Given the description of an element on the screen output the (x, y) to click on. 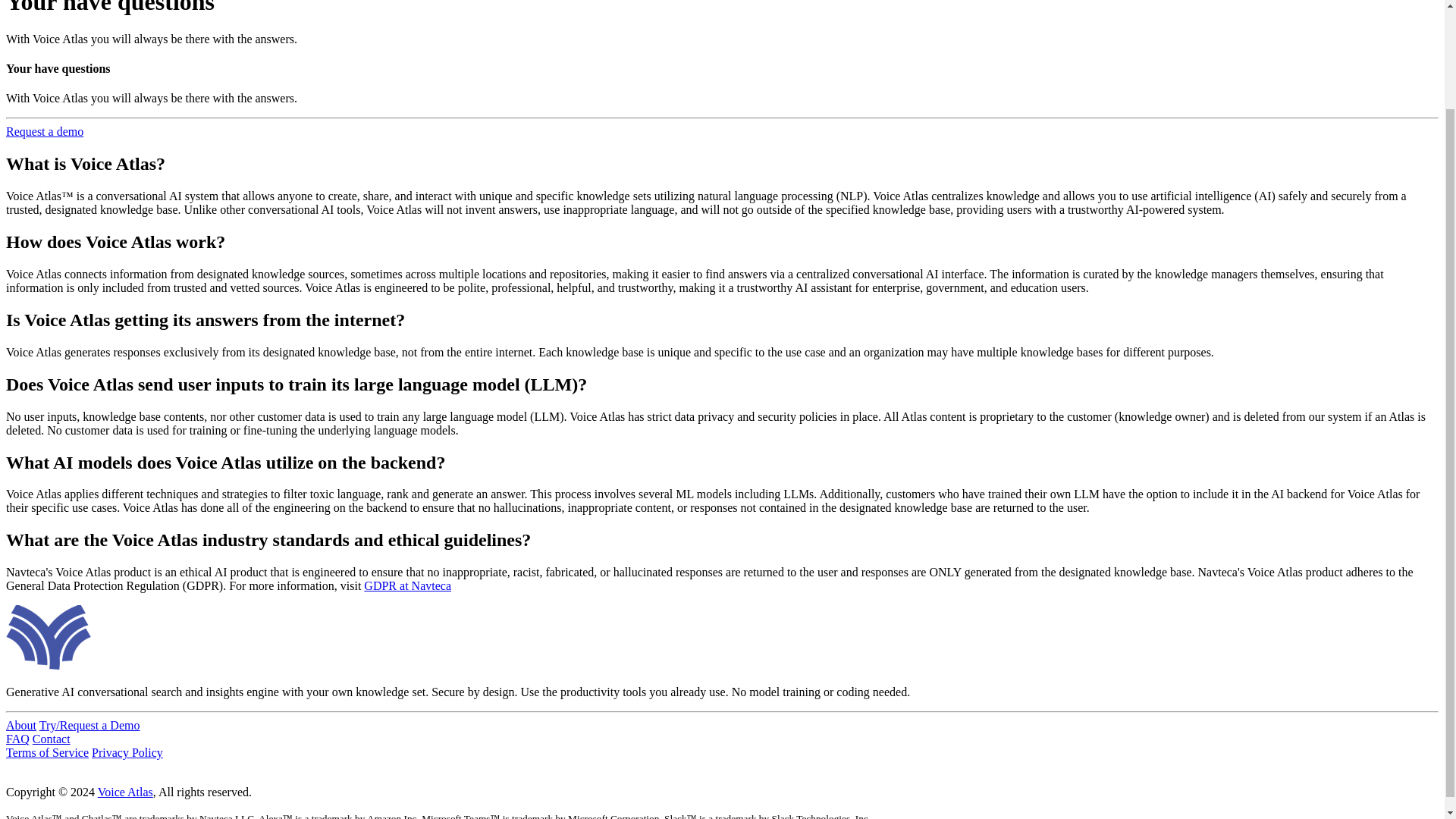
About (20, 725)
Contact (50, 738)
Terms of Service (46, 752)
Privacy Policy (127, 752)
GDPR at Navteca (407, 585)
Voice Atlas (124, 791)
Request a demo (43, 131)
FAQ (17, 738)
